Given the description of an element on the screen output the (x, y) to click on. 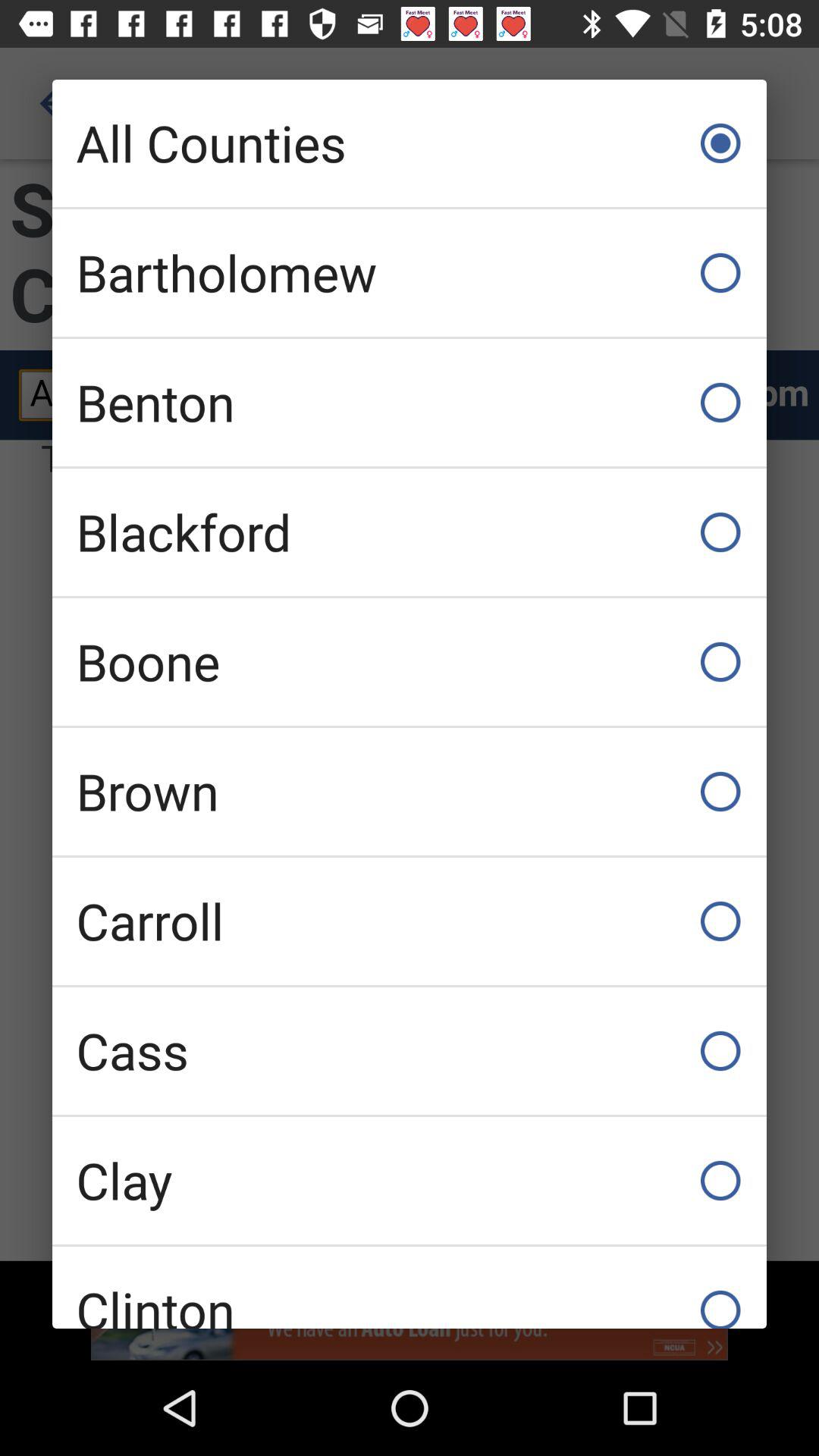
click item above the cass (409, 921)
